Given the description of an element on the screen output the (x, y) to click on. 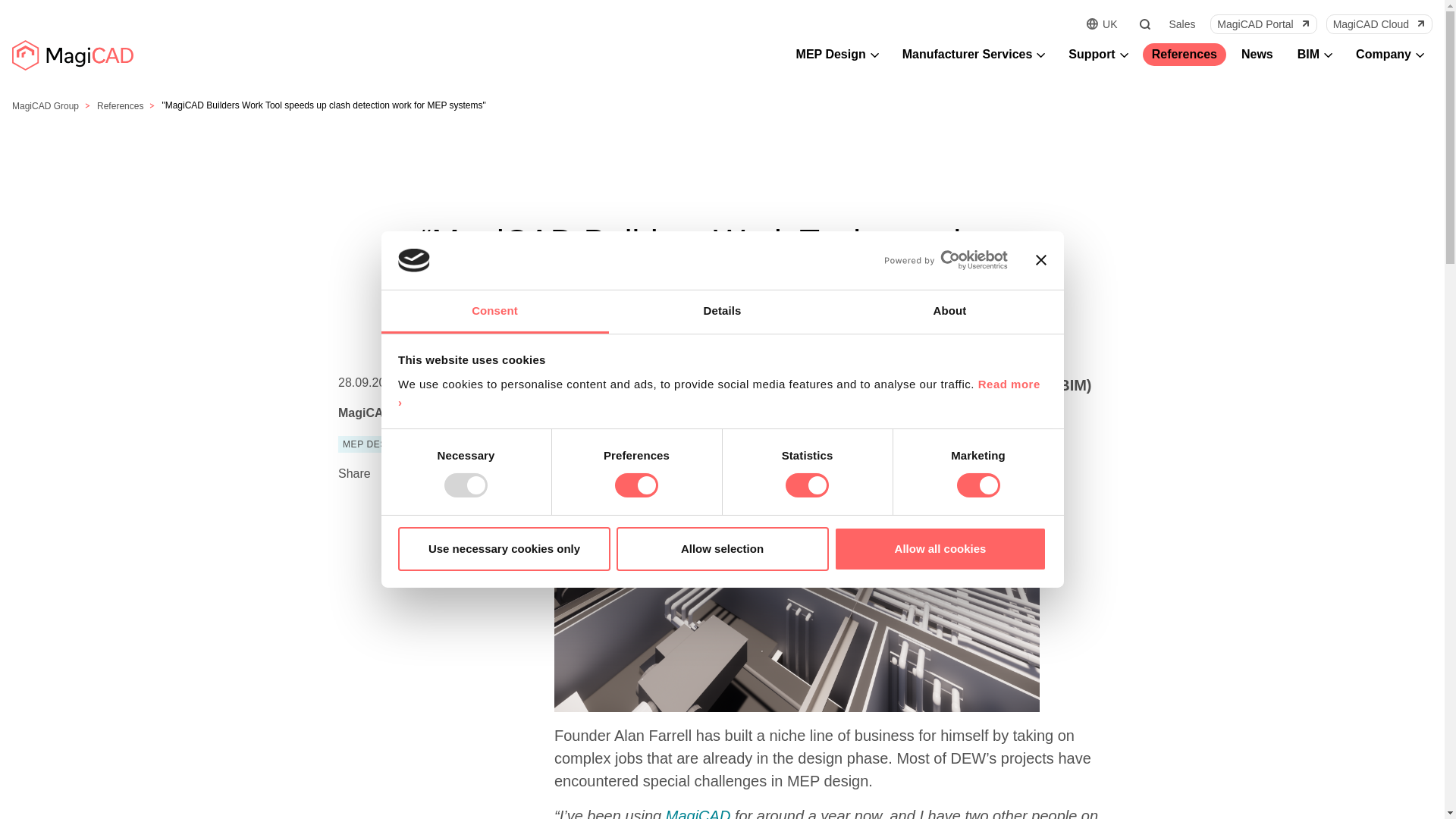
Consent (494, 311)
About (948, 311)
Details (721, 311)
